Given the description of an element on the screen output the (x, y) to click on. 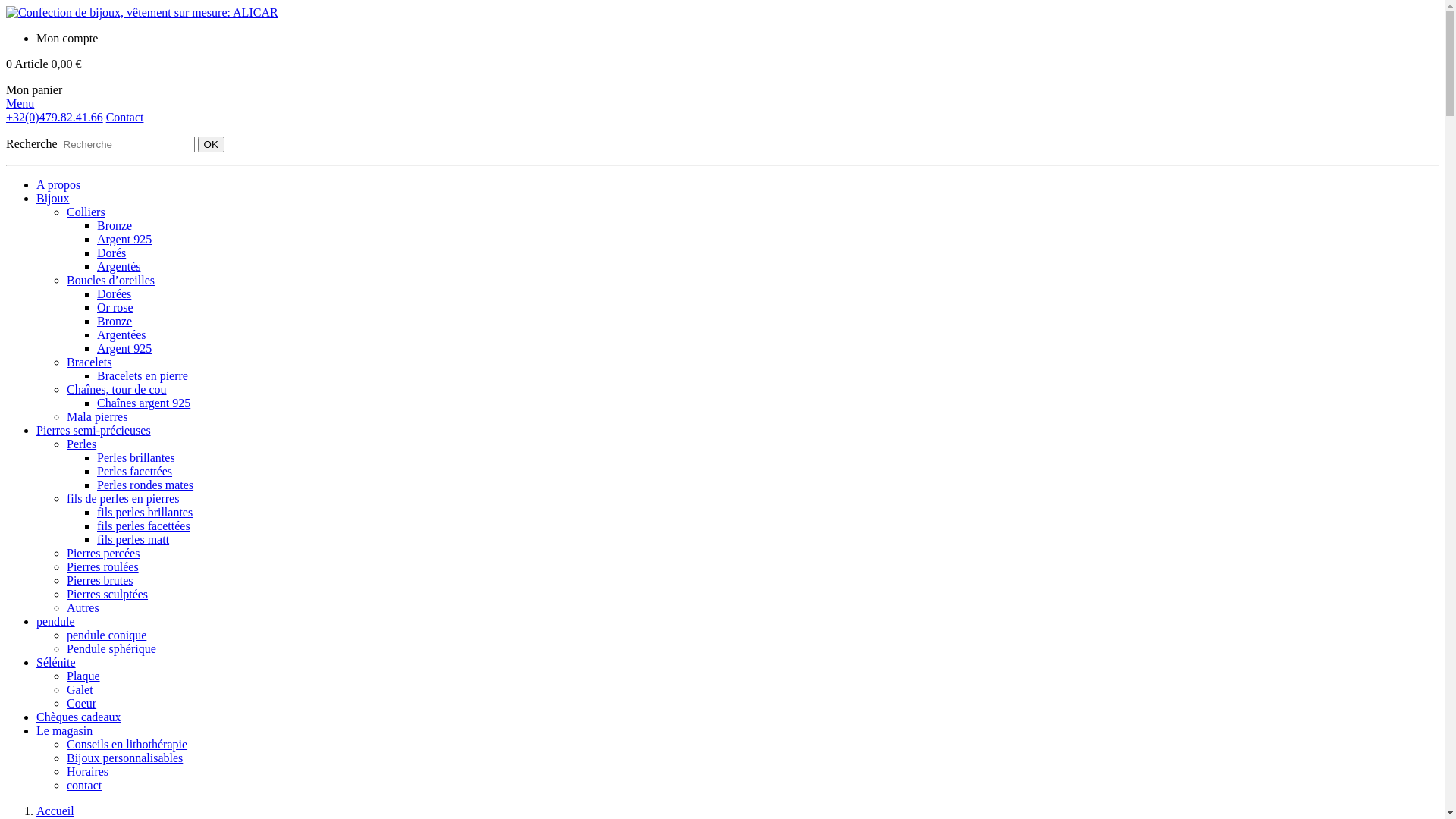
A propos Element type: text (58, 184)
Voir mon panier Element type: hover (81, 67)
contact Element type: text (83, 784)
Colliers Element type: text (85, 211)
Perles Element type: text (81, 443)
Mala pierres Element type: text (96, 416)
Bronze Element type: text (114, 225)
Autres Element type: text (82, 607)
Plaque Element type: text (83, 675)
Argent 925 Element type: text (124, 238)
fils perles matt Element type: text (133, 539)
Bijoux Element type: text (52, 197)
pendule Element type: text (55, 621)
fils perles brillantes Element type: text (144, 511)
Or rose Element type: text (115, 307)
Perles brillantes Element type: text (136, 457)
Bijoux personnalisables Element type: text (124, 757)
Contact Element type: text (125, 116)
Coeur Element type: text (81, 702)
Bronze Element type: text (114, 320)
Bracelets en pierre Element type: text (142, 375)
Mon compte Element type: text (66, 37)
+32(0)479.82.41.66 Element type: text (54, 116)
Le magasin Element type: text (64, 730)
fils de perles en pierres Element type: text (122, 498)
Perles rondes mates Element type: text (145, 484)
pendule conique Element type: text (106, 634)
OK Element type: text (210, 144)
Bracelets Element type: text (89, 361)
Accueil Element type: text (55, 810)
Argent 925 Element type: text (124, 348)
Galet Element type: text (79, 689)
Pierres brutes Element type: text (99, 580)
Horaires Element type: text (87, 771)
Menu Element type: text (20, 103)
